Given the description of an element on the screen output the (x, y) to click on. 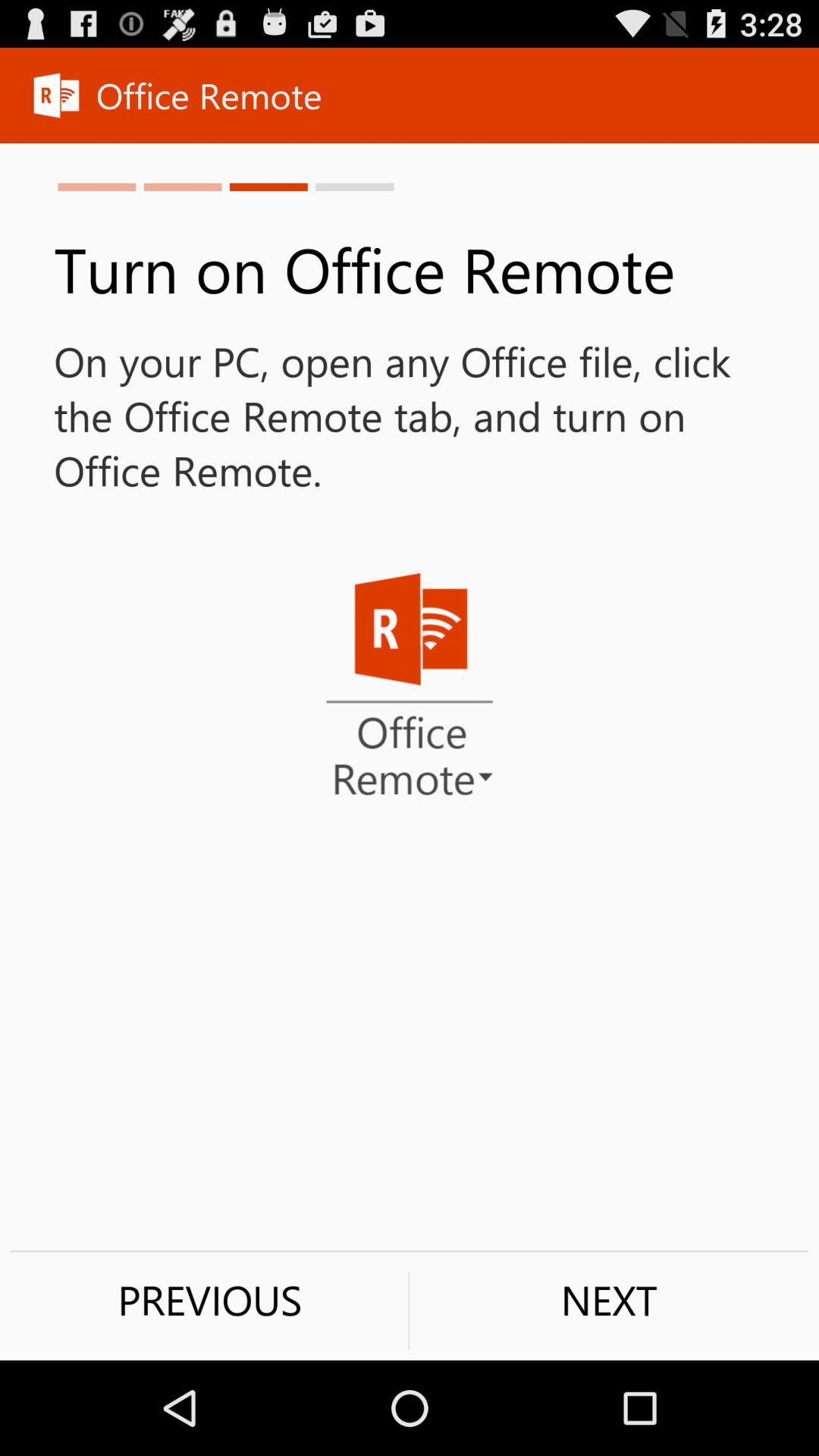
press previous button (209, 1300)
